Given the description of an element on the screen output the (x, y) to click on. 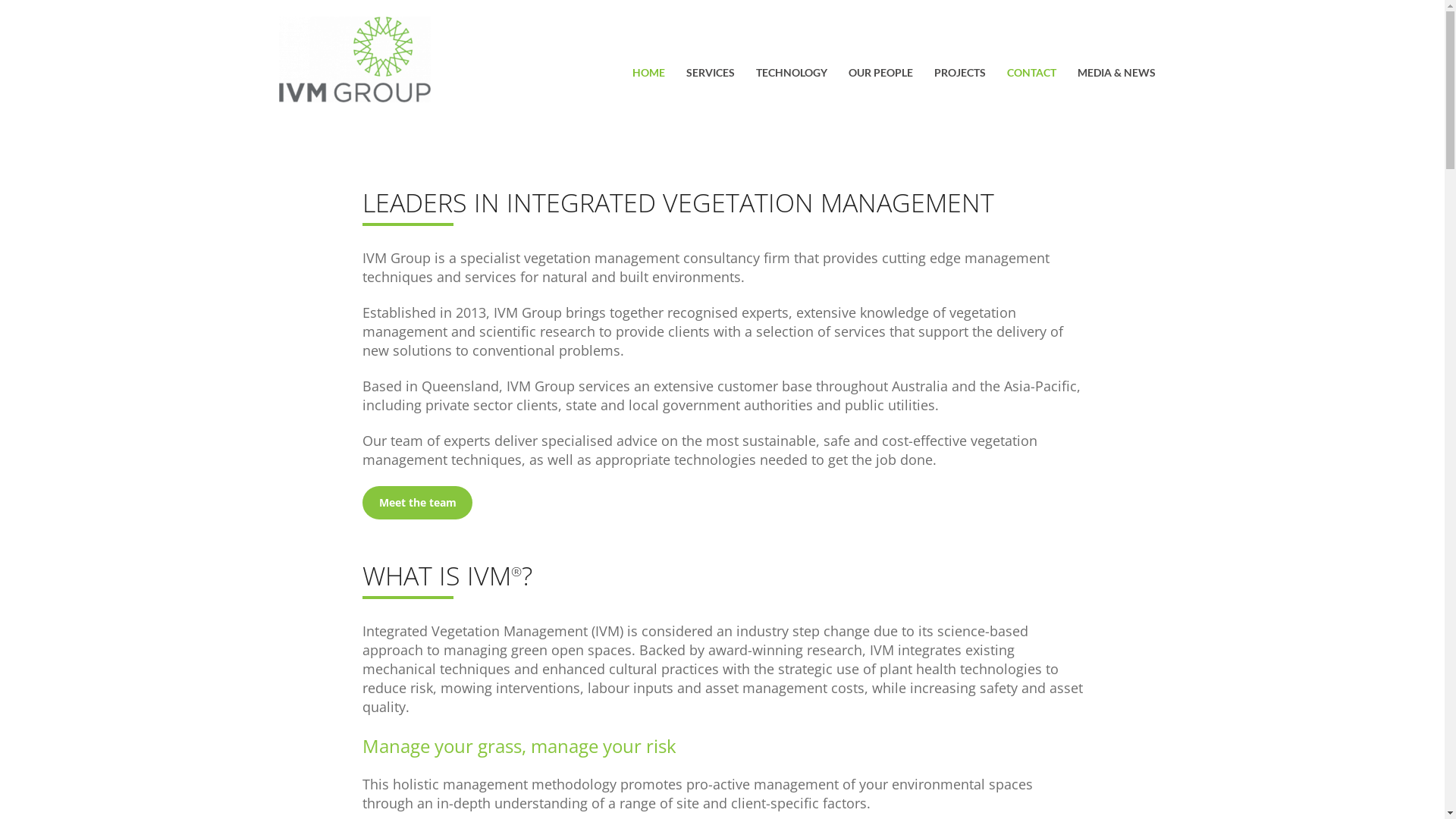
PROJECTS Element type: text (959, 74)
MEDIA & NEWS Element type: text (1115, 74)
CONTACT Element type: text (1031, 74)
SERVICES Element type: text (709, 74)
Meet the team Element type: text (417, 502)
TECHNOLOGY Element type: text (790, 74)
OUR PEOPLE Element type: text (879, 74)
HOME Element type: text (648, 74)
